Given the description of an element on the screen output the (x, y) to click on. 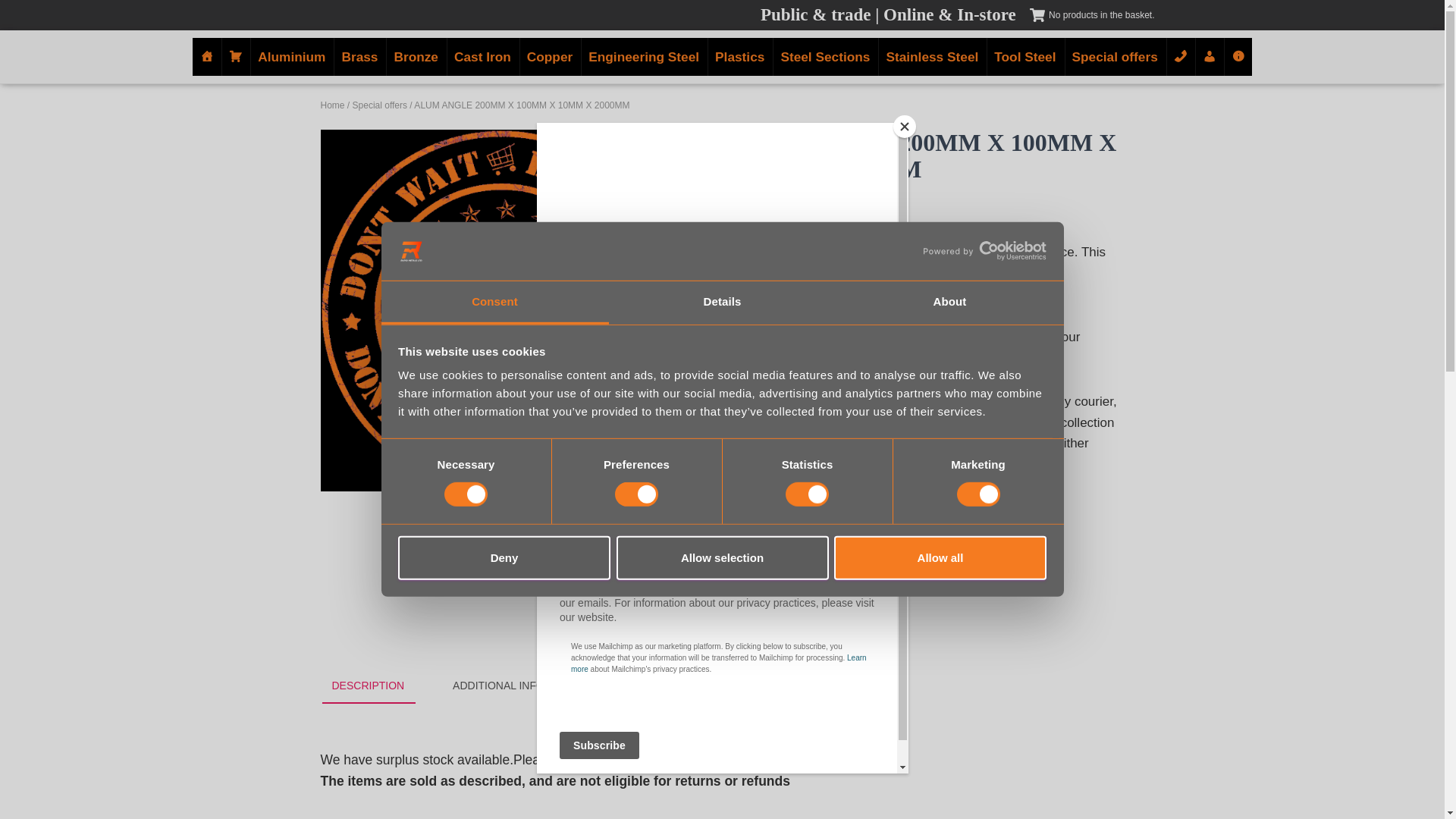
Consent (494, 302)
About (948, 302)
Details (721, 302)
1 (752, 555)
